Given the description of an element on the screen output the (x, y) to click on. 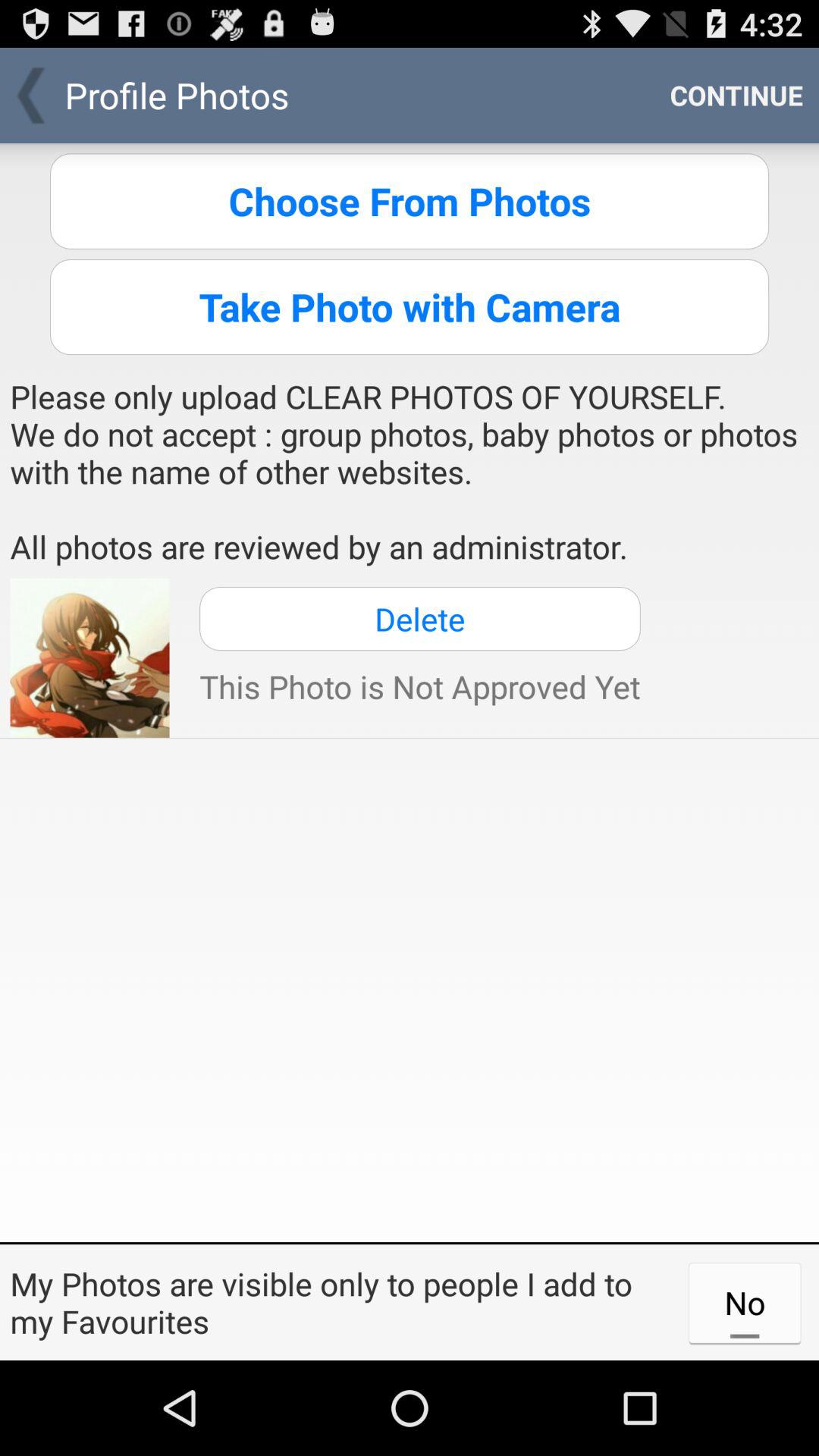
launch the icon below the delete item (419, 686)
